Given the description of an element on the screen output the (x, y) to click on. 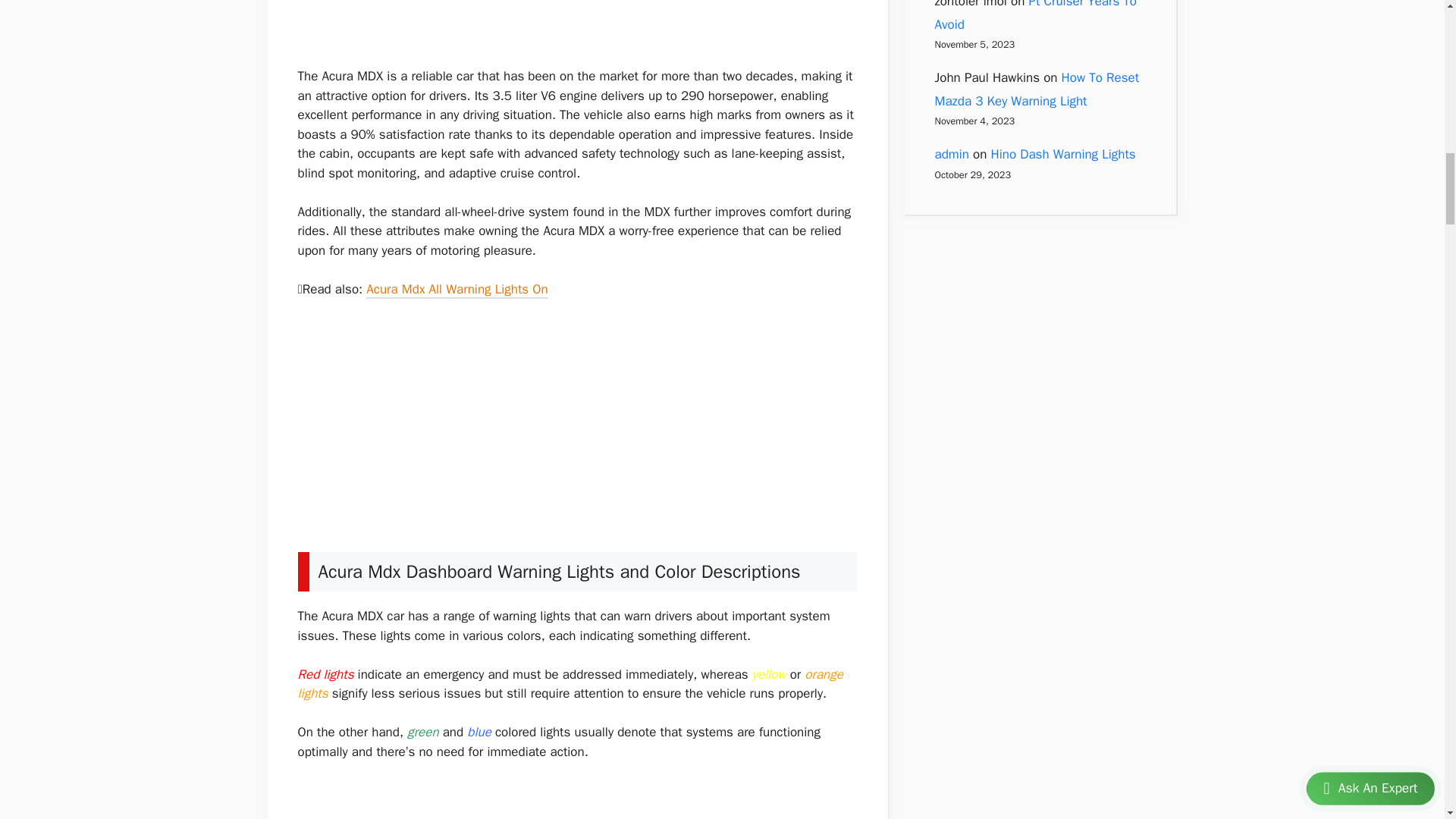
Acura Mdx All Warning Lights On (456, 290)
